Given the description of an element on the screen output the (x, y) to click on. 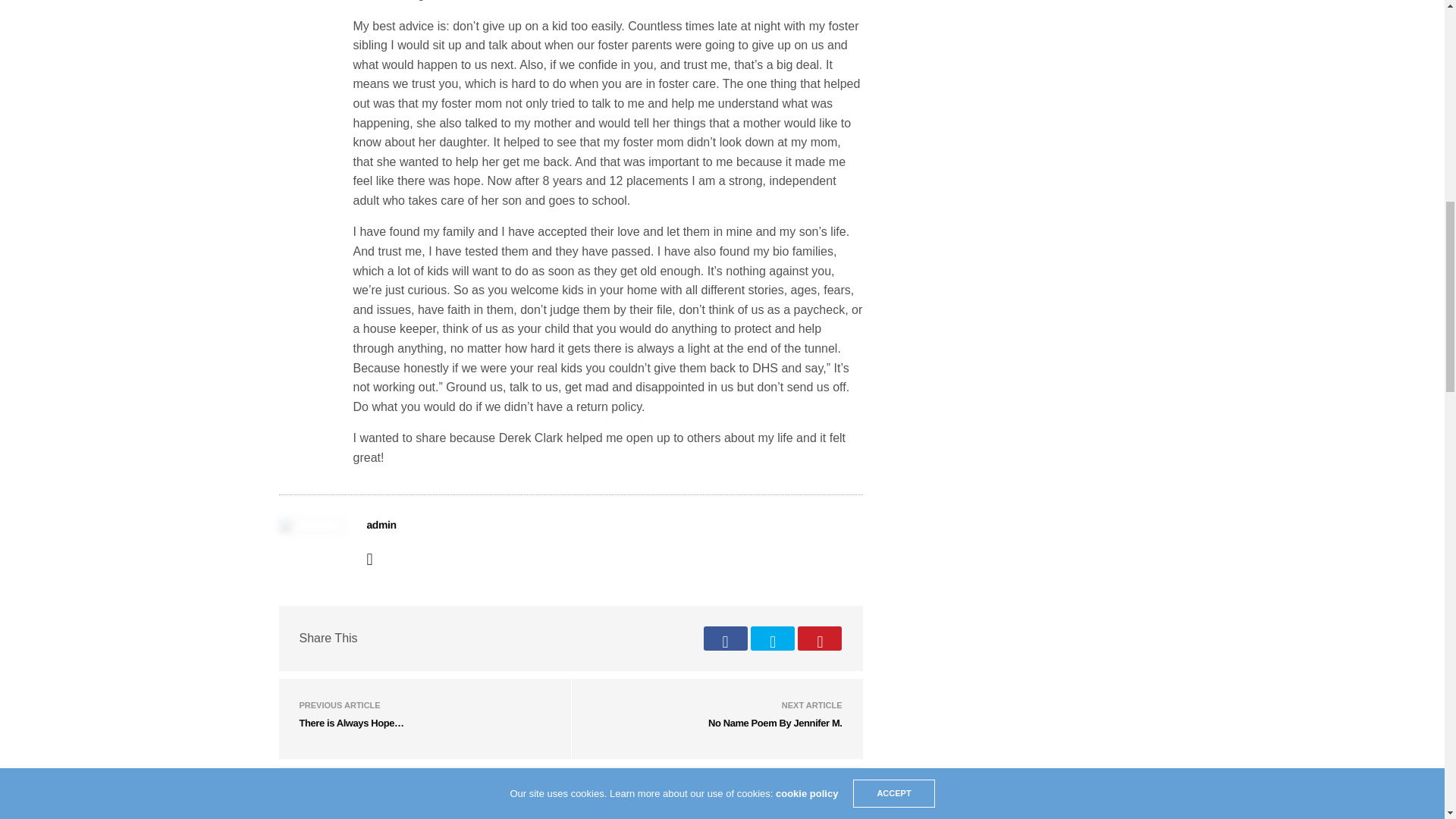
No Name Poem  By Jennifer M. (775, 722)
